Given the description of an element on the screen output the (x, y) to click on. 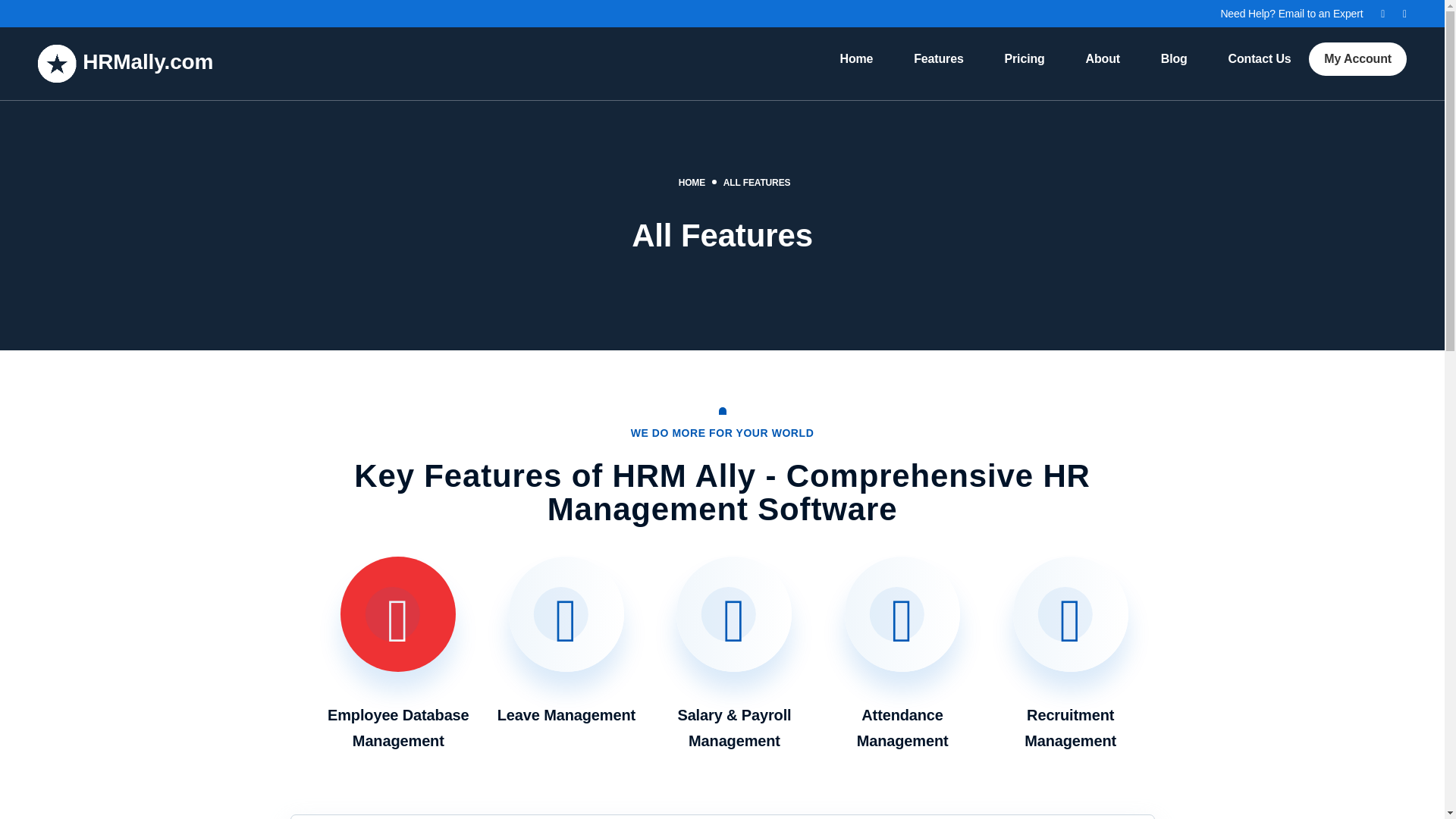
HOME (691, 182)
About (1102, 59)
HRMally.com (124, 63)
Need Help? Email to an Expert (1291, 13)
Pricing (1023, 59)
ALL FEATURES (756, 182)
Features (938, 59)
Blog (1173, 59)
Leave Management (565, 642)
Home (856, 59)
My Account (1357, 59)
Contact Us (1259, 59)
